Given the description of an element on the screen output the (x, y) to click on. 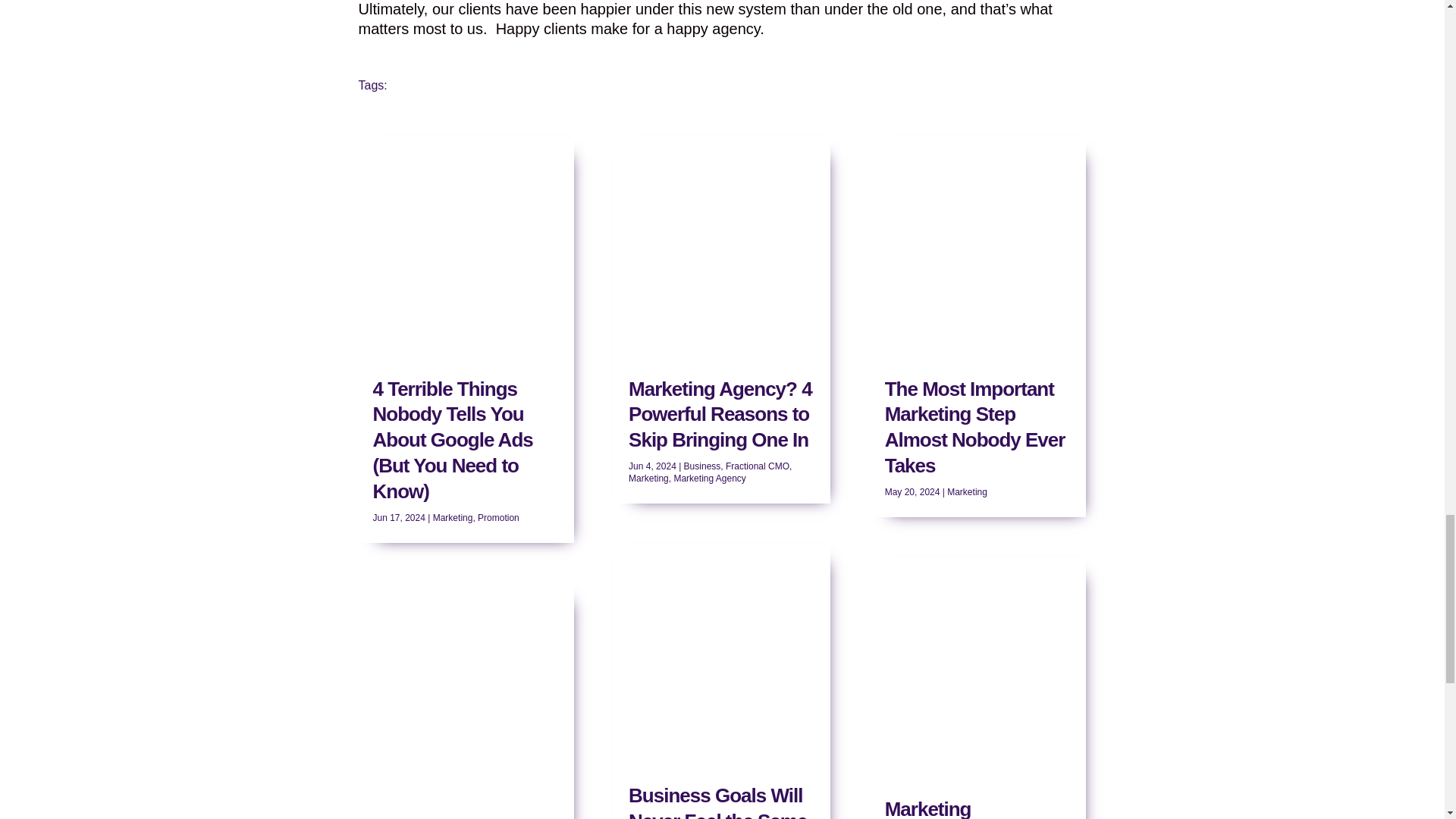
Marketing Agency? 4 Powerful Reasons to Skip Bringing One In (720, 414)
Marketing (452, 517)
Promotion (498, 517)
The Most Important Marketing Step Almost Nobody Ever Takes (975, 426)
Business Goals Will Never Feel the Same Again (717, 801)
Marketing (648, 478)
Fractional CMO (757, 466)
Marketing Agency (708, 478)
Business (702, 466)
